Given the description of an element on the screen output the (x, y) to click on. 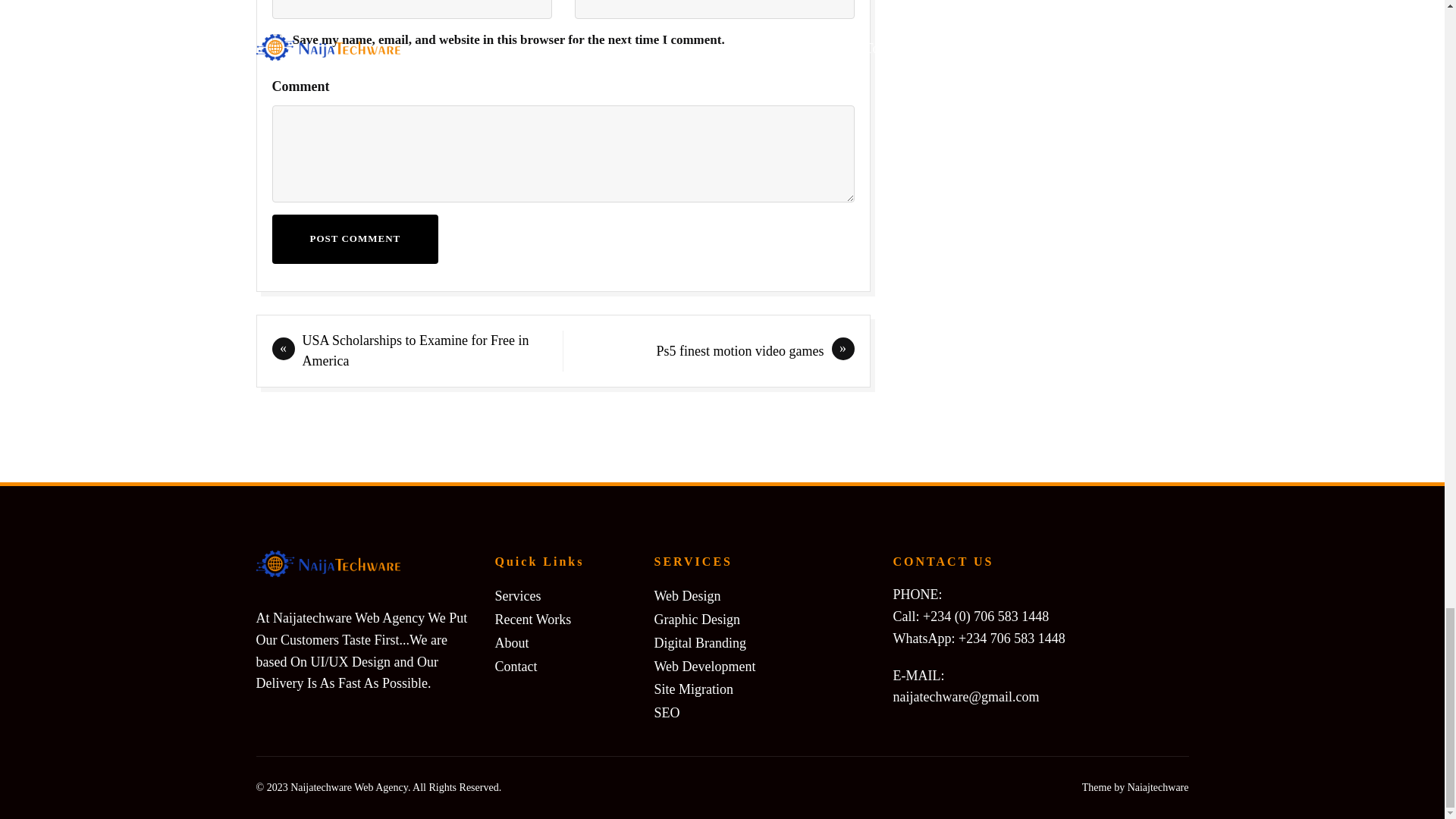
Recent Works (532, 619)
SEO (666, 712)
yes (275, 39)
Web Development (704, 667)
Digital Branding (699, 643)
Ps5 finest motion video games (740, 350)
USA Scholarships to Examine for Free in America (414, 350)
Graphic Design (696, 619)
Contact (516, 667)
Services (517, 596)
Site Migration (693, 689)
POST COMMENT (354, 238)
About (511, 643)
Web Design (686, 596)
